Given the description of an element on the screen output the (x, y) to click on. 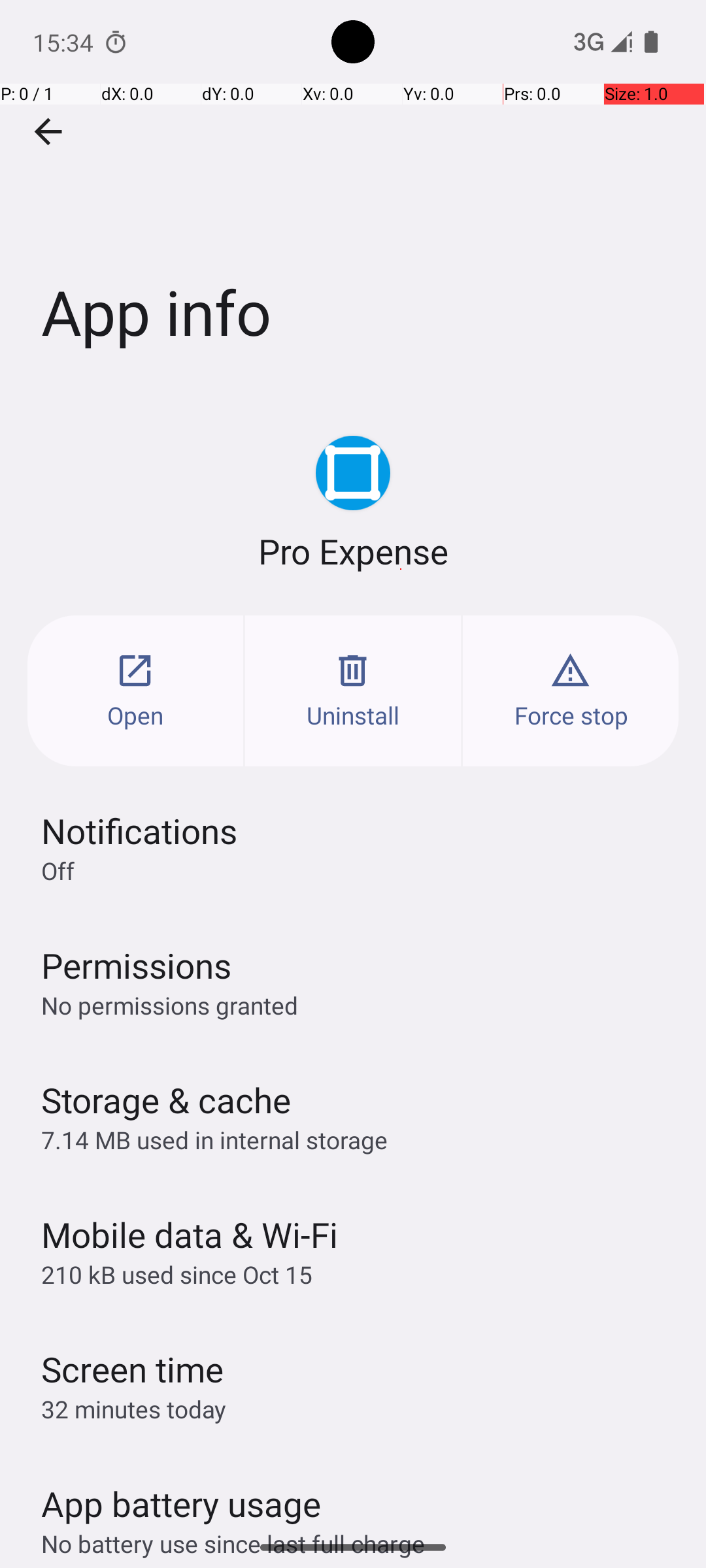
No permissions granted Element type: android.widget.TextView (169, 1004)
7.14 MB used in internal storage Element type: android.widget.TextView (214, 1139)
210 kB used since Oct 15 Element type: android.widget.TextView (176, 1273)
32 minutes today Element type: android.widget.TextView (133, 1408)
